Given the description of an element on the screen output the (x, y) to click on. 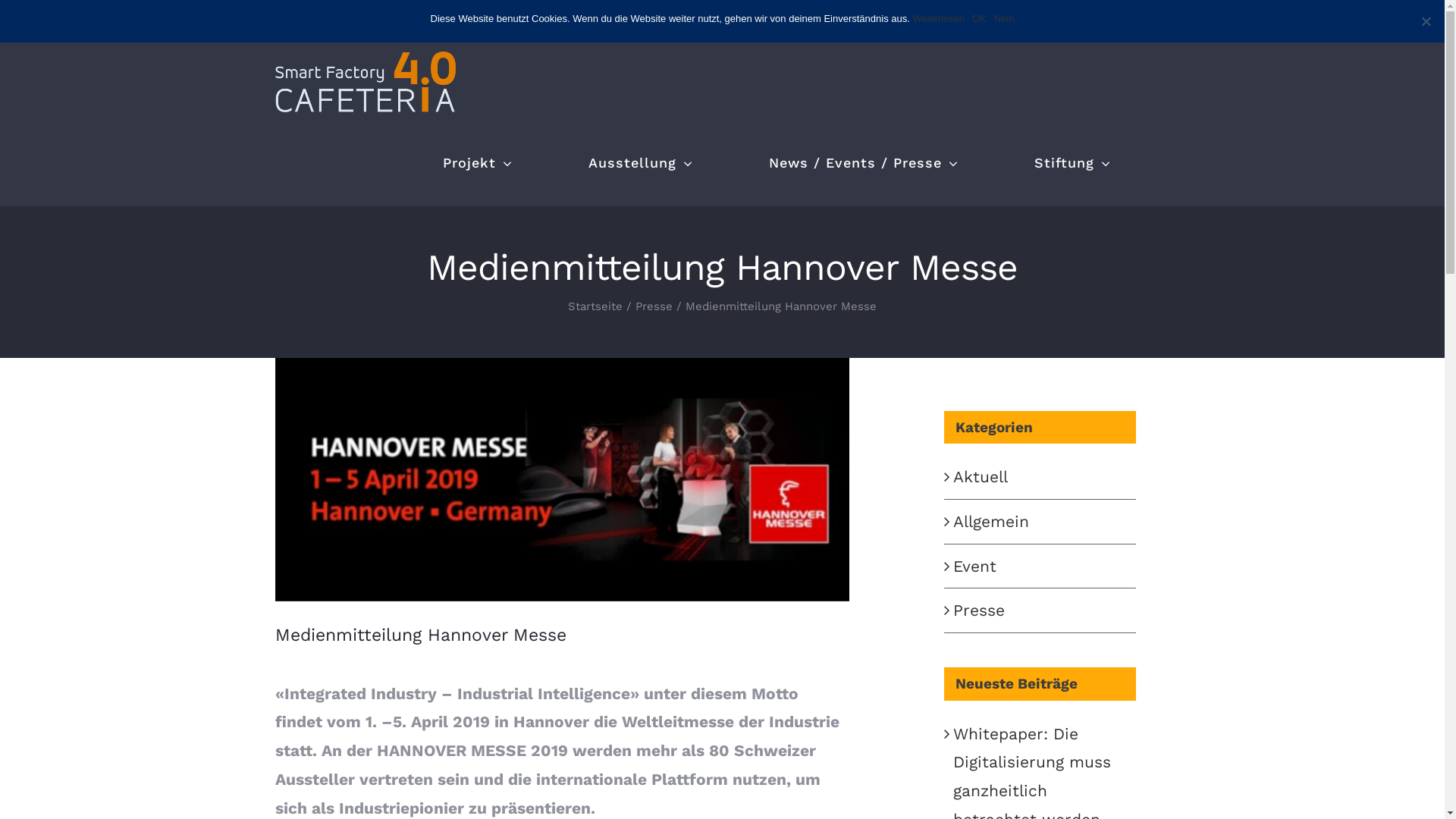
Presse Element type: text (1040, 610)
Allgemein Element type: text (1040, 521)
Weiterlesen Element type: text (937, 18)
News / Events / Presse Element type: text (863, 162)
YouTube Element type: text (1091, 21)
Nein Element type: text (1004, 18)
Event Element type: text (1040, 566)
Presse Element type: text (653, 305)
Ausstellung Element type: text (640, 162)
LinkedIn Element type: text (1123, 21)
Xing Element type: text (1157, 21)
Aktuell Element type: text (1040, 476)
Projekt Element type: text (477, 162)
Stiftung Element type: text (1072, 162)
Startseite Element type: text (594, 305)
OK Element type: text (979, 18)
